Given the description of an element on the screen output the (x, y) to click on. 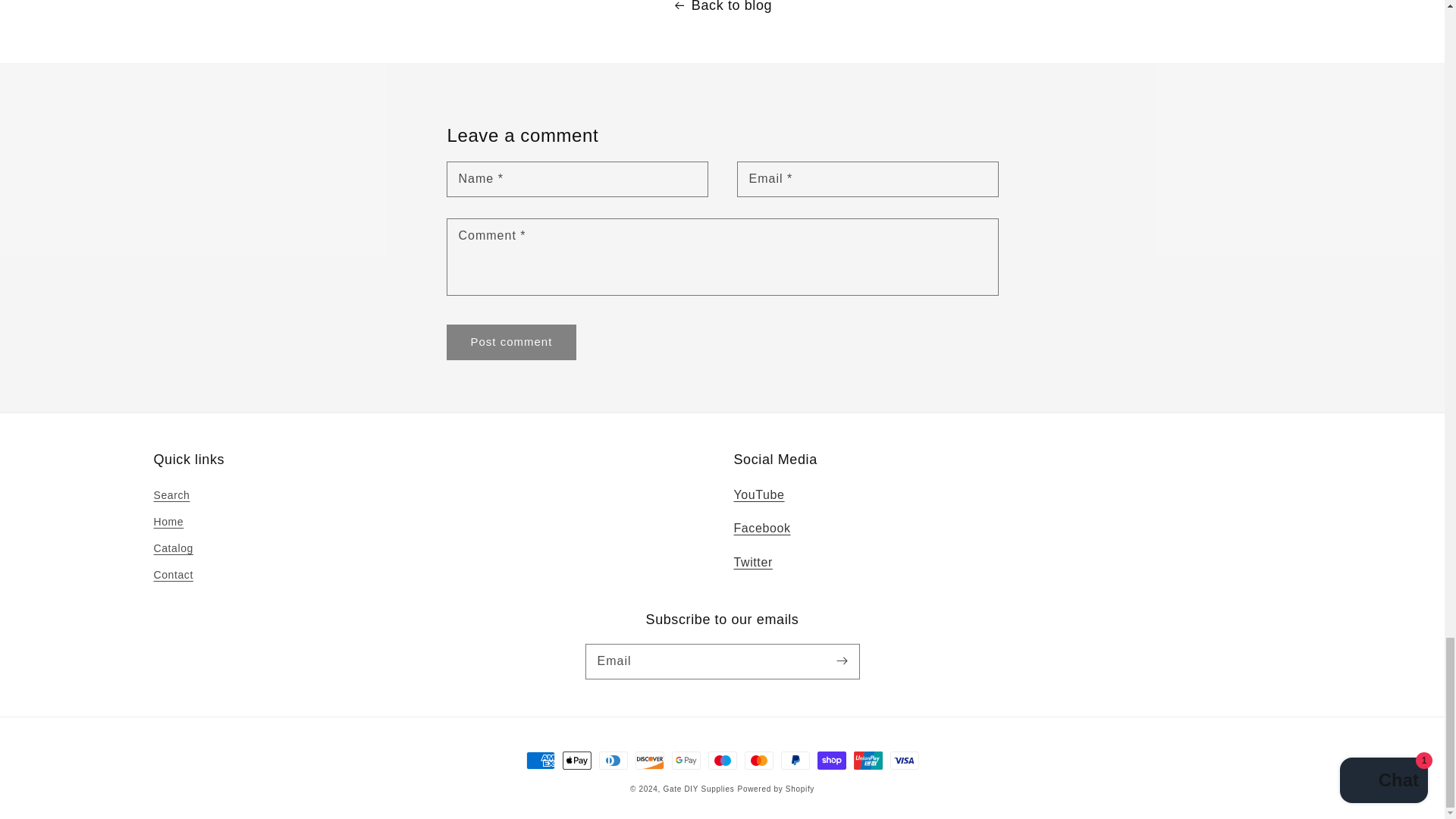
Post comment (511, 342)
Search (170, 497)
Home (167, 521)
YouTube (758, 494)
Catalog (172, 548)
Contact (172, 574)
Facebook (761, 527)
Twitter (753, 562)
Post comment (511, 342)
